Given the description of an element on the screen output the (x, y) to click on. 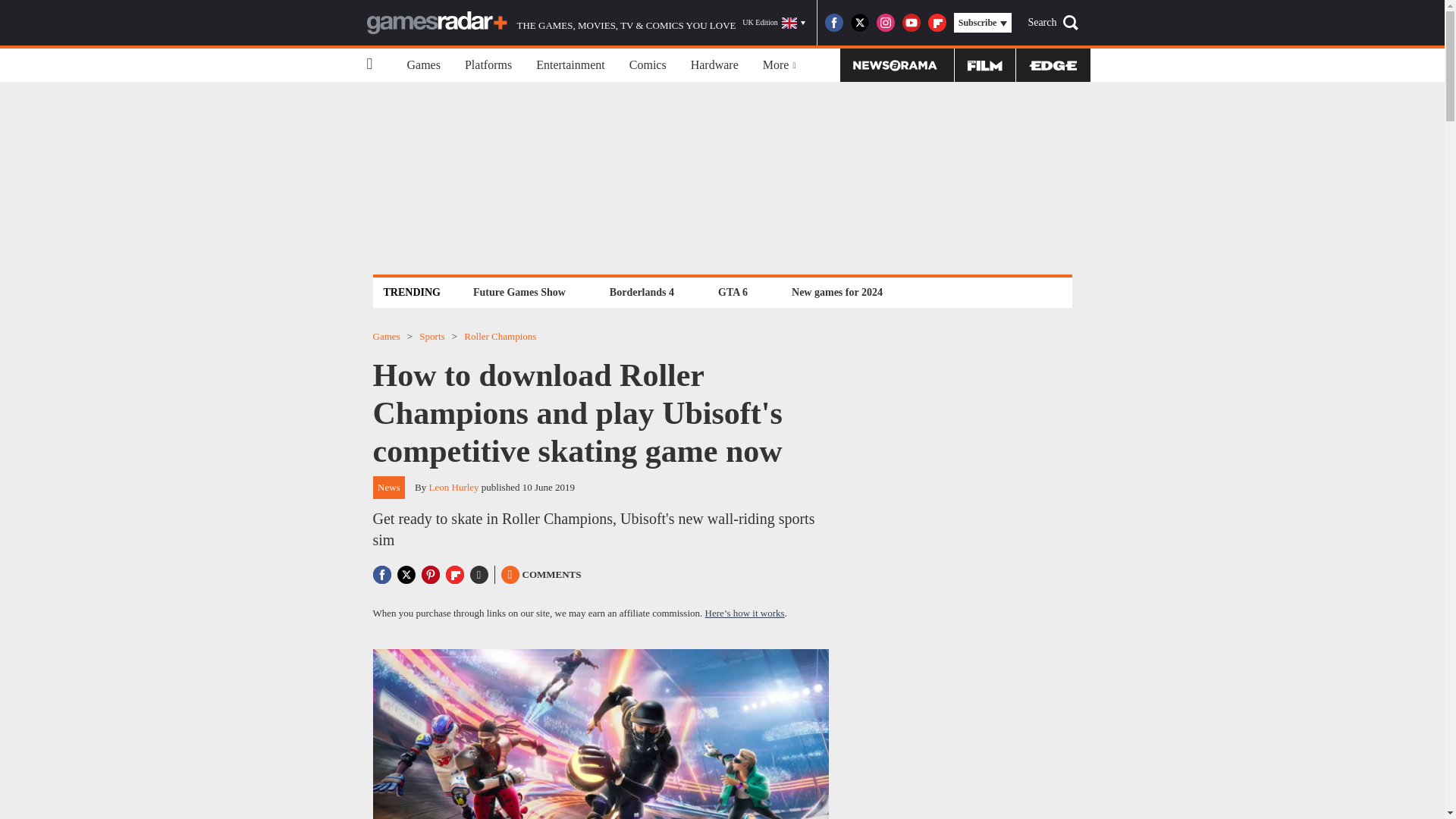
UK Edition (773, 22)
Future Games Show (518, 292)
Comics (647, 64)
Platforms (488, 64)
GTA 6 (732, 292)
Hardware (714, 64)
Games (422, 64)
New games for 2024 (837, 292)
Entertainment (570, 64)
Borderlands 4 (641, 292)
